Given the description of an element on the screen output the (x, y) to click on. 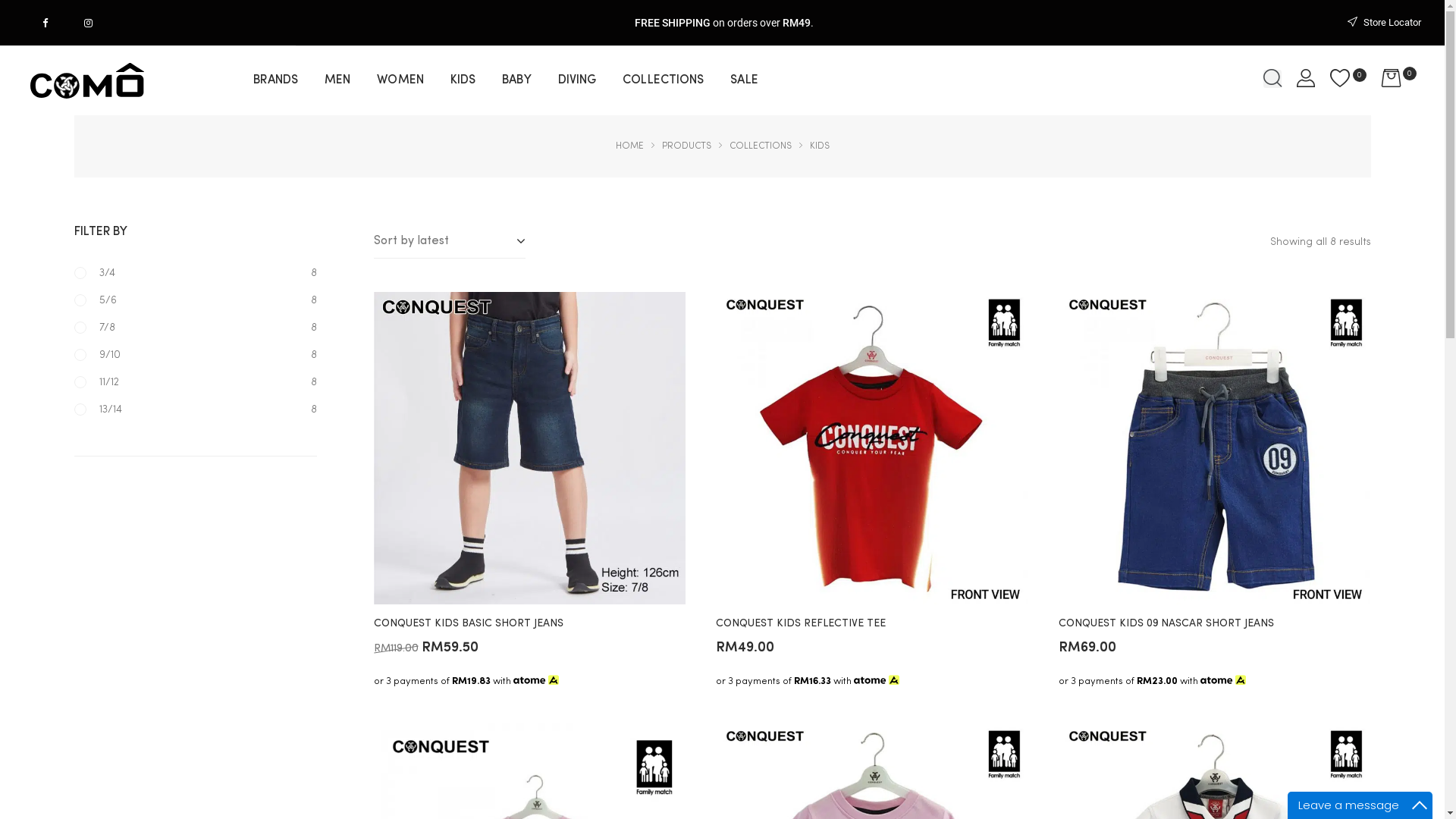
0 Element type: text (1398, 80)
HOME Element type: text (629, 145)
11/12 Element type: text (96, 381)
9/10 Element type: text (97, 354)
DIVING Element type: text (577, 80)
5/6 Element type: text (95, 299)
7/8 Element type: text (94, 327)
0 Element type: text (1348, 80)
SALE Element type: text (743, 80)
COLLECTIONS Element type: text (760, 145)
BABY Element type: text (516, 80)
Store Locator Element type: text (1383, 22)
PRODUCTS Element type: text (685, 145)
3/4 Element type: text (94, 272)
13/14 Element type: text (98, 409)
Maximize Element type: hover (1419, 805)
KIDS Element type: text (462, 80)
WOMEN Element type: text (399, 80)
COLLECTIONS Element type: text (662, 80)
BRANDS Element type: text (275, 80)
MEN Element type: text (337, 80)
